Given the description of an element on the screen output the (x, y) to click on. 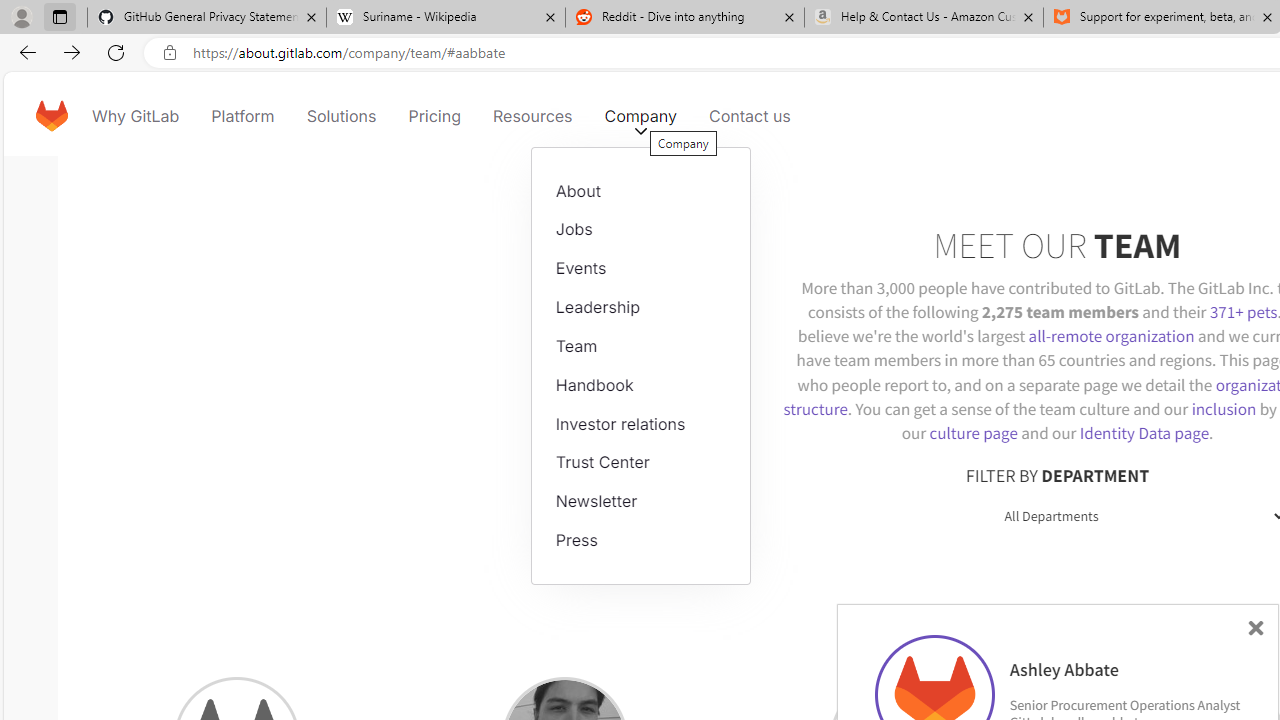
Company (640, 115)
GitLab home page (51, 115)
